Given the description of an element on the screen output the (x, y) to click on. 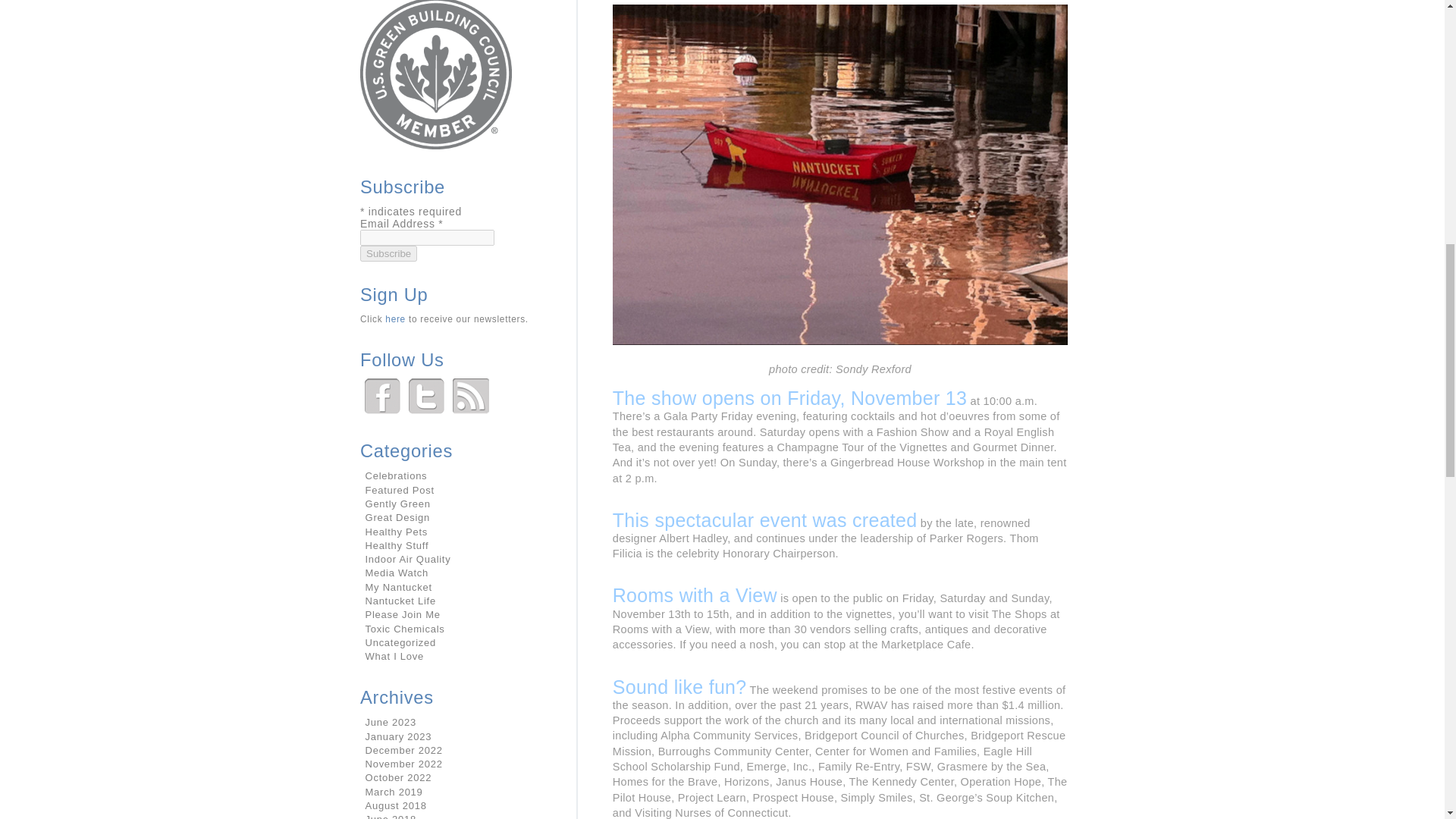
Subscribe (387, 253)
